Given the description of an element on the screen output the (x, y) to click on. 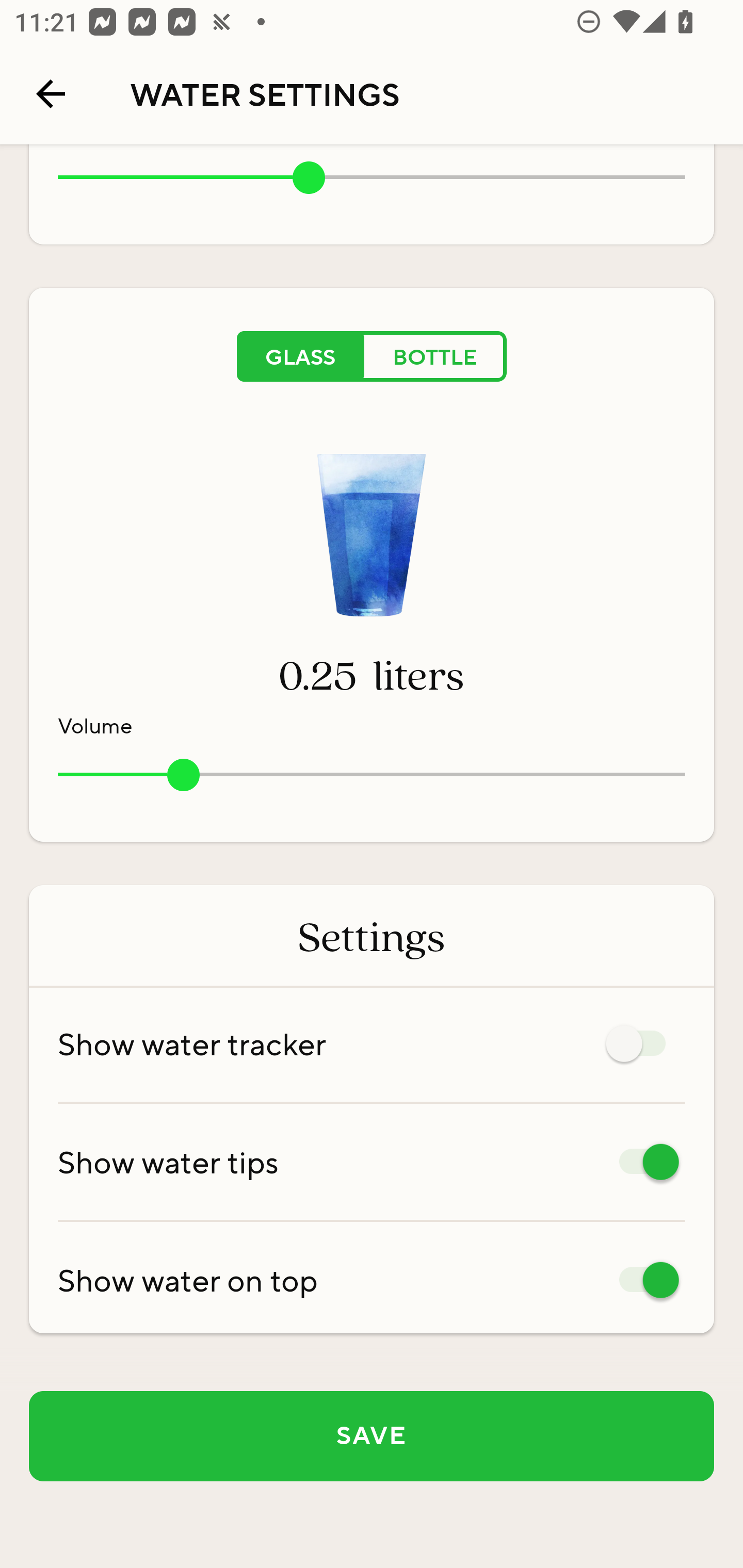
Navigate up (50, 93)
GLASS (300, 355)
BOTTLE (435, 355)
SAVE (371, 1435)
